Given the description of an element on the screen output the (x, y) to click on. 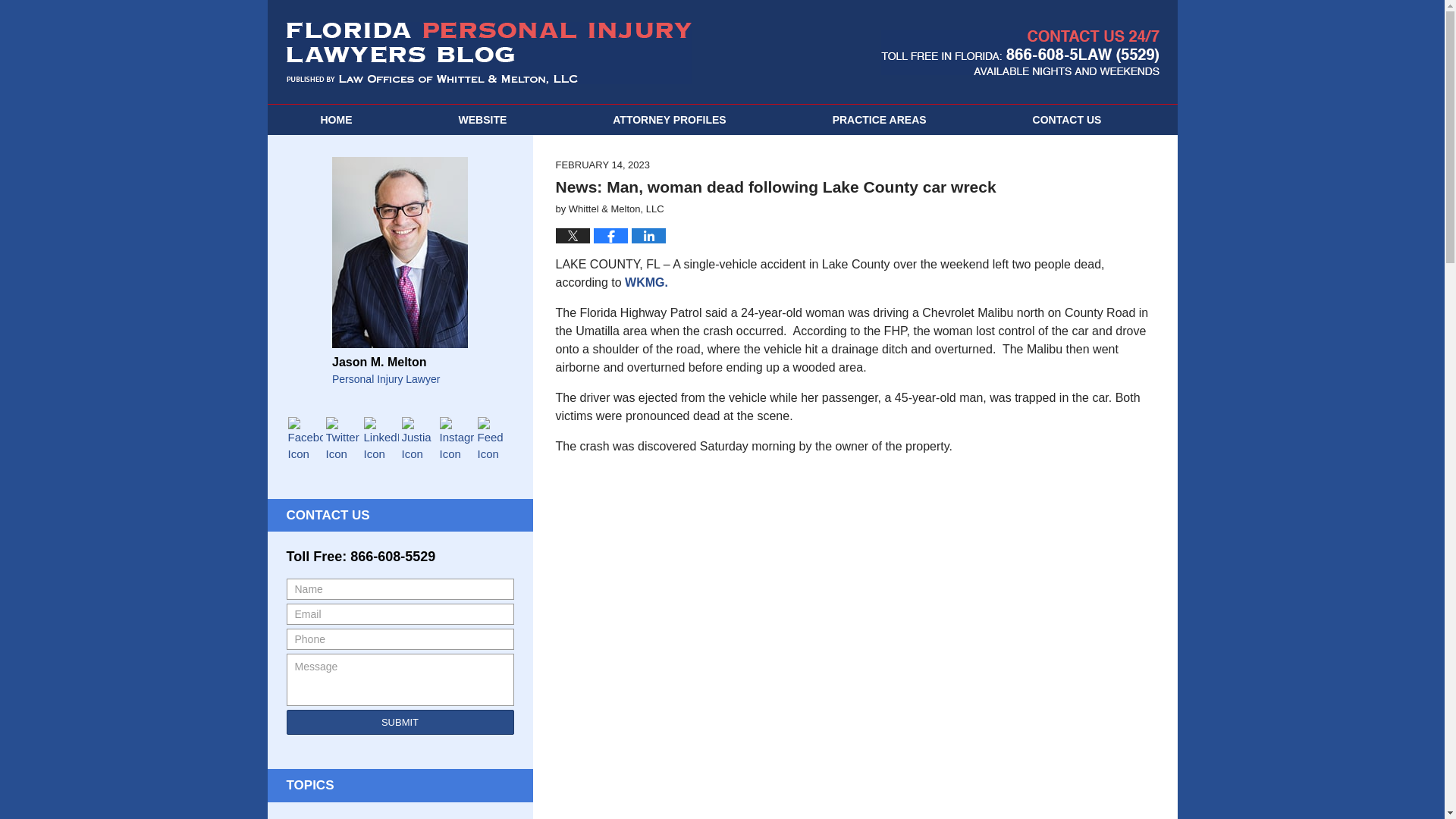
WKMG. (646, 282)
CONTACT US (327, 514)
Florida Personal Injury Lawyers Blog (488, 53)
WEBSITE (481, 119)
HOME (335, 119)
PRACTICE AREAS (878, 119)
SUBMIT (399, 722)
CONTACT US (1066, 119)
Please enter a valid phone number. (399, 639)
ATTORNEY PROFILES (668, 119)
